Given the description of an element on the screen output the (x, y) to click on. 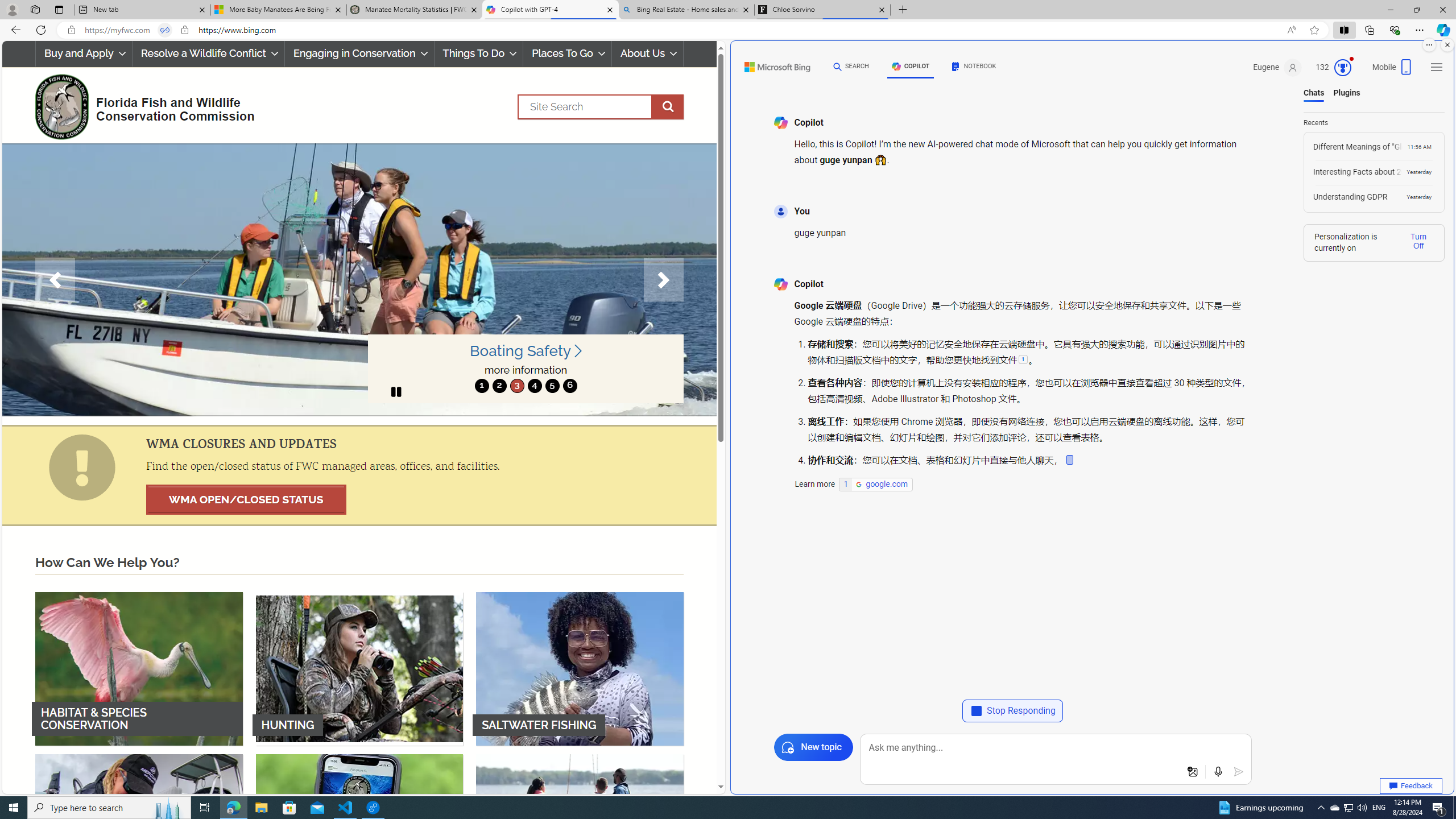
More options. (1428, 45)
About Us (647, 53)
Eugene (1278, 67)
Chloe Sorvino (822, 9)
About Us (647, 53)
move to slide 6 (569, 385)
Things To Do (478, 53)
New topic (813, 746)
Add an image to search (1192, 771)
3 (516, 385)
Copilot with GPT-4 (550, 9)
